Given the description of an element on the screen output the (x, y) to click on. 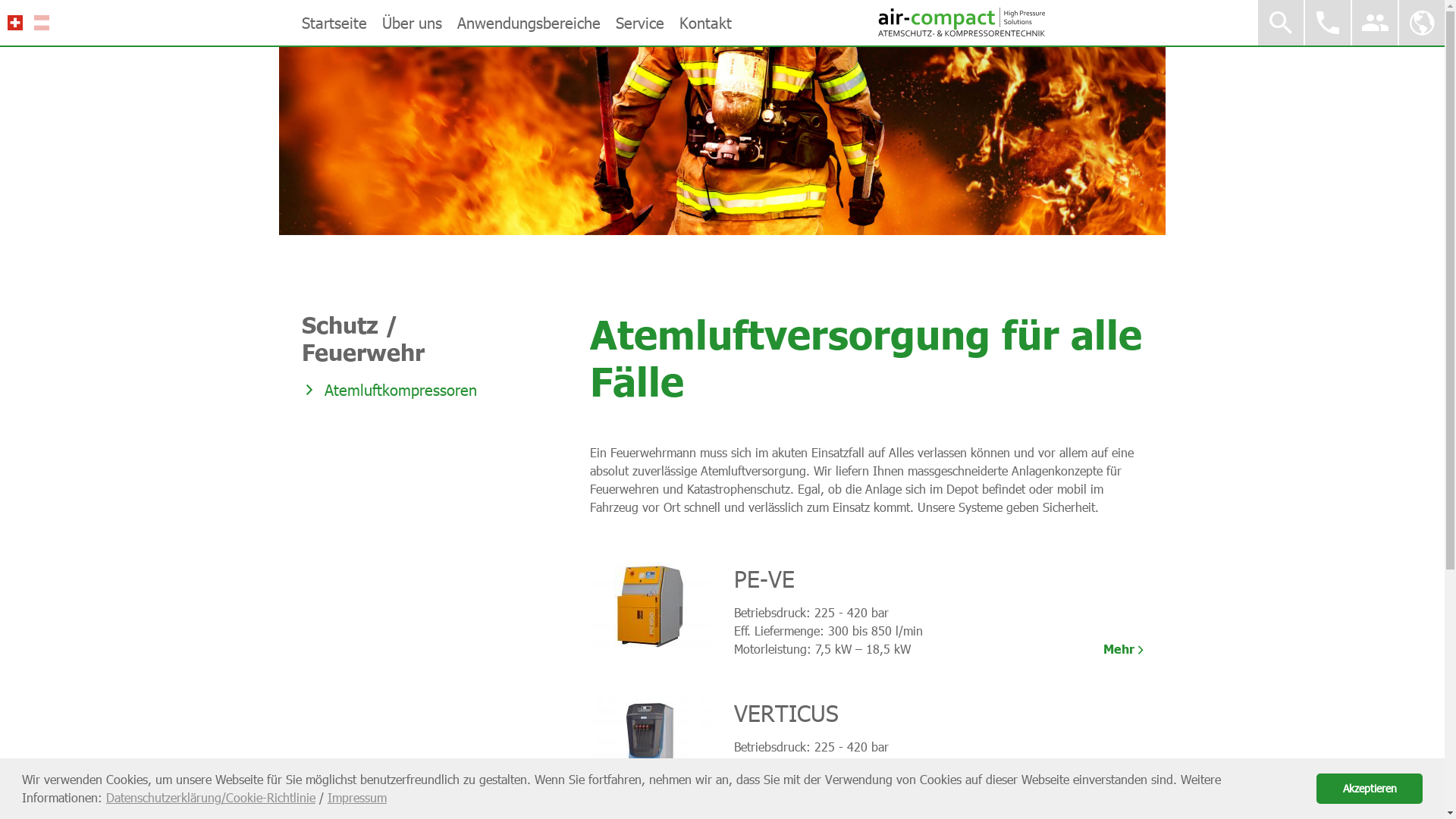
Startseite Element type: text (334, 22)
Atemluftkompressoren Element type: text (398, 389)
Akzeptieren Element type: text (1369, 788)
Impressum Element type: text (356, 797)
Kontakt Element type: text (705, 22)
Anwendungsbereiche Element type: text (527, 22)
Service Element type: text (639, 22)
Schutz / Feuerwehr Element type: text (398, 337)
